Given the description of an element on the screen output the (x, y) to click on. 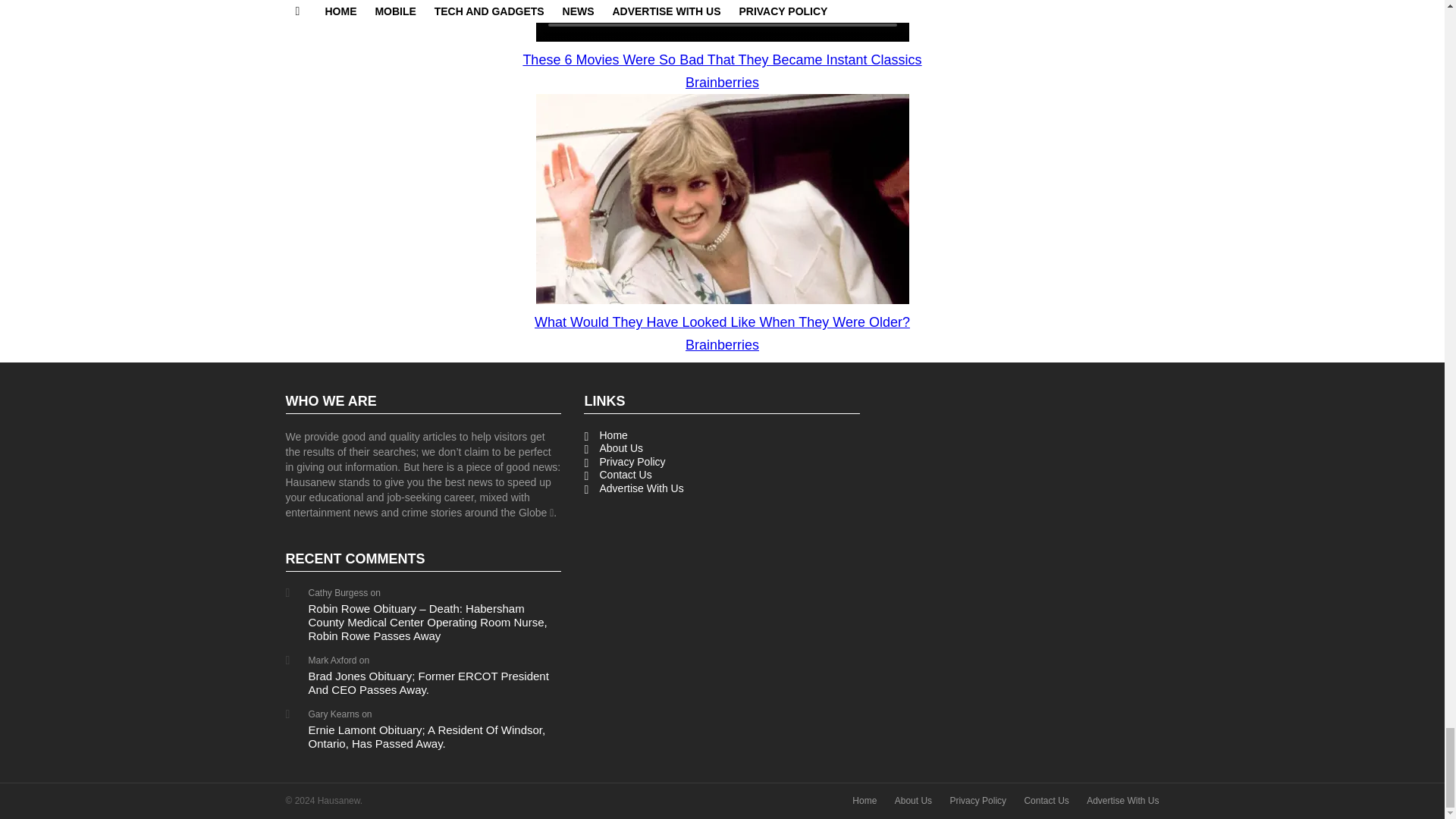
About Us (721, 448)
Privacy Policy (977, 800)
Advertise With Us (721, 489)
Privacy Policy (721, 462)
Advertise With Us (1122, 800)
Contact Us (721, 475)
Home (863, 800)
Home (721, 436)
Contact Us (1045, 800)
About Us (912, 800)
